Given the description of an element on the screen output the (x, y) to click on. 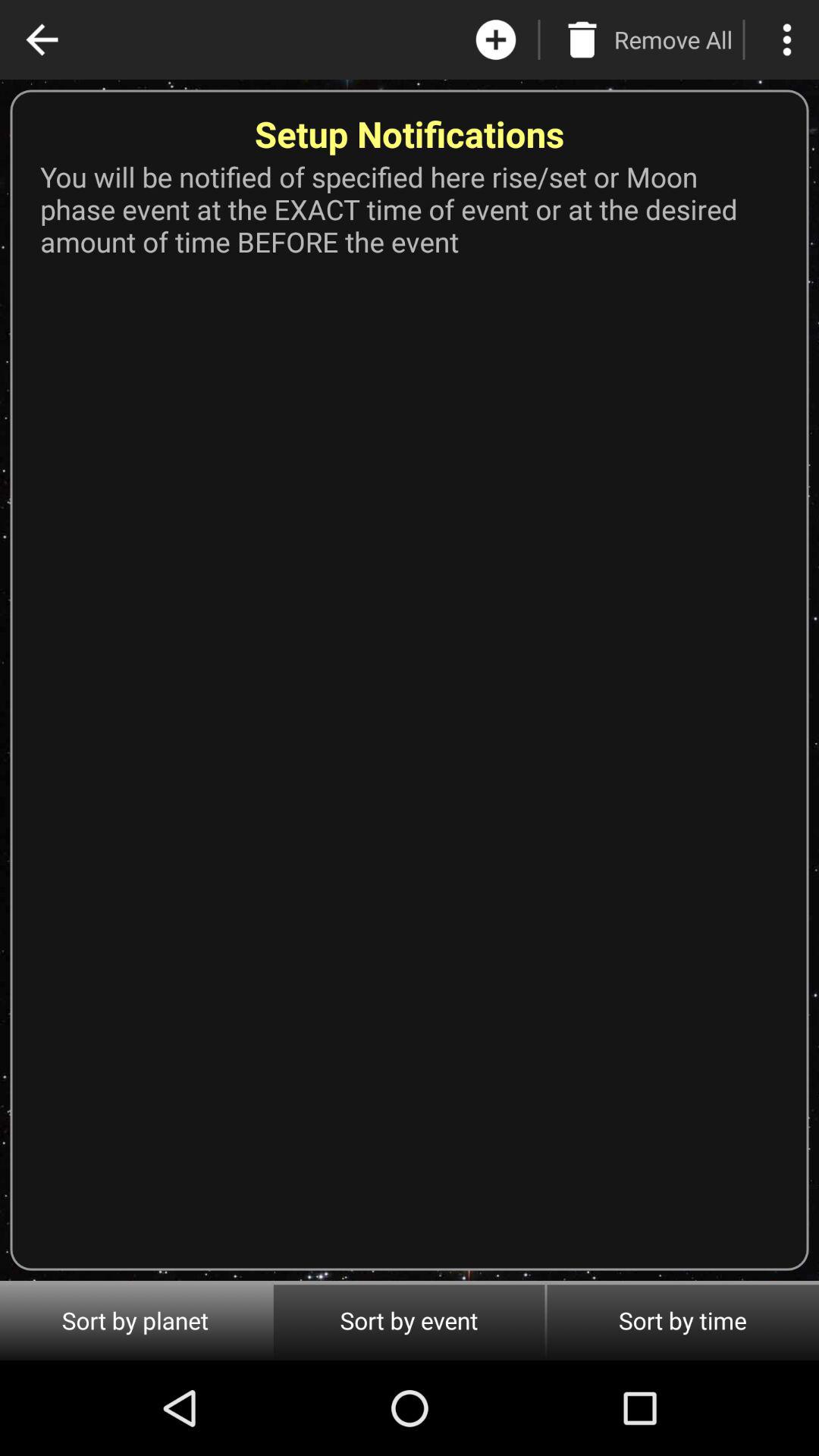
click item at the top left corner (41, 39)
